Given the description of an element on the screen output the (x, y) to click on. 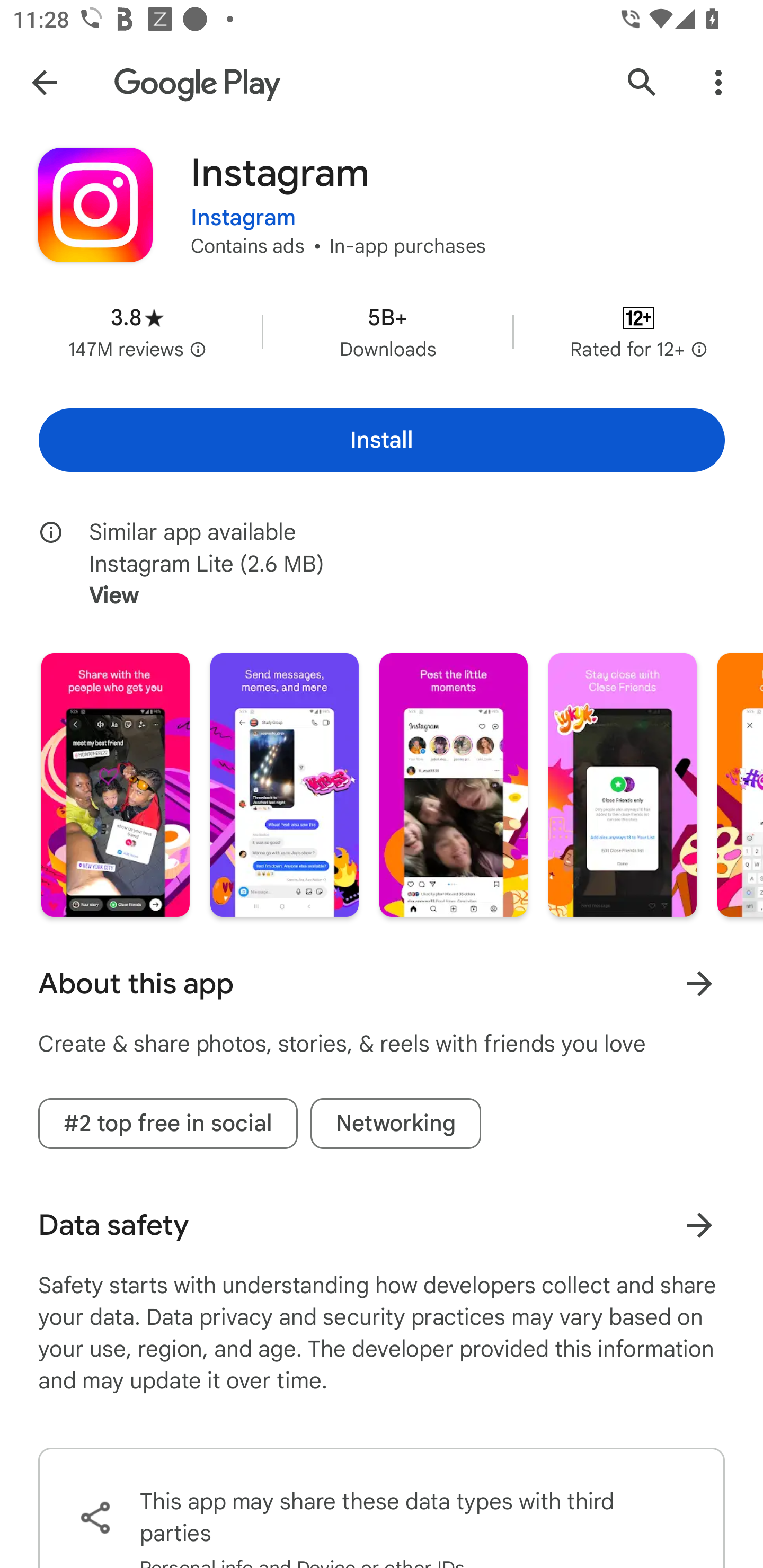
Navigate up (44, 81)
Search Google Play (642, 81)
More Options (718, 81)
Instagram (243, 206)
Average rating 3.8 stars in 147 million reviews (137, 331)
Content rating Rated for 12+ (638, 331)
Install (381, 439)
Similar app available
Instagram Lite (2.6 MB)
View (394, 563)
Screenshot "1" of "6" (115, 785)
Screenshot "2" of "6" (284, 785)
Screenshot "3" of "6" (453, 785)
Screenshot "4" of "6" (622, 785)
About this app Learn more About this app (381, 983)
Learn more About this app (699, 983)
#2 top free in social tag (167, 1123)
Networking tag (395, 1123)
Data safety Learn more about data safety (381, 1225)
Learn more about data safety (699, 1224)
